Given the description of an element on the screen output the (x, y) to click on. 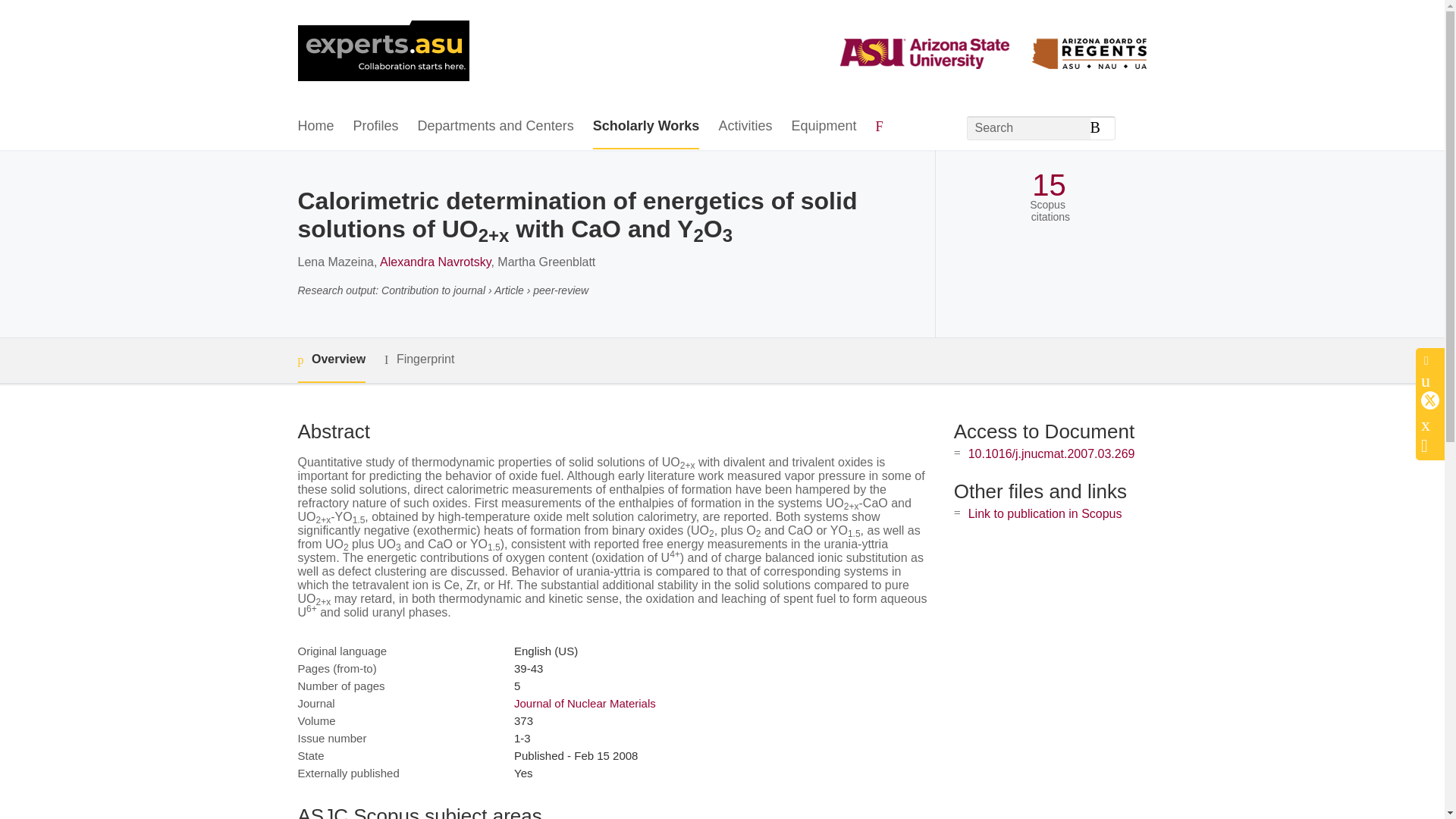
15 (1048, 185)
Alexandra Navrotsky (435, 261)
Departments and Centers (495, 126)
Journal of Nuclear Materials (584, 703)
Fingerprint (419, 359)
Activities (744, 126)
Profiles (375, 126)
Overview (331, 360)
Link to publication in Scopus (1045, 513)
